Given the description of an element on the screen output the (x, y) to click on. 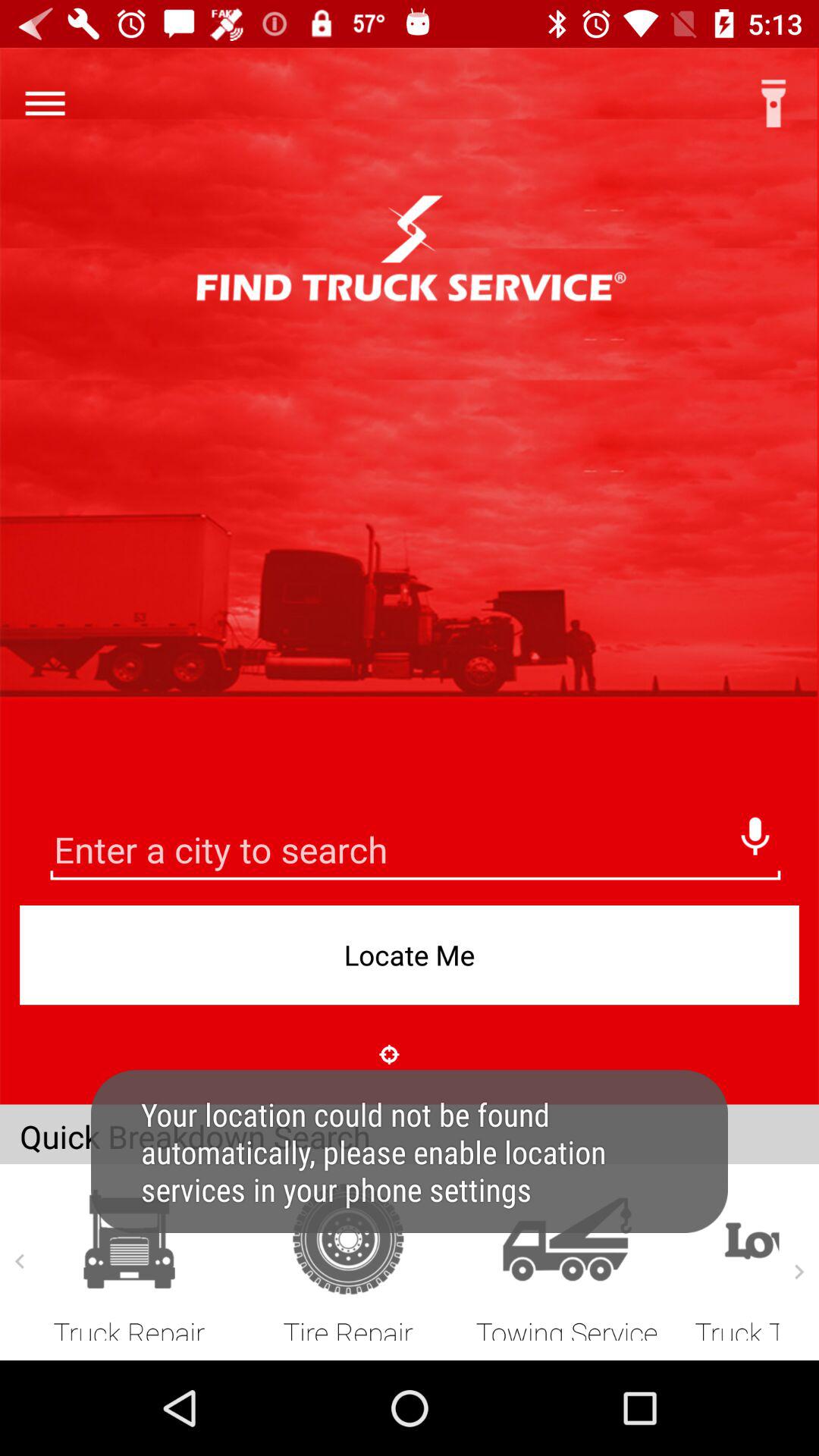
menu (45, 103)
